Given the description of an element on the screen output the (x, y) to click on. 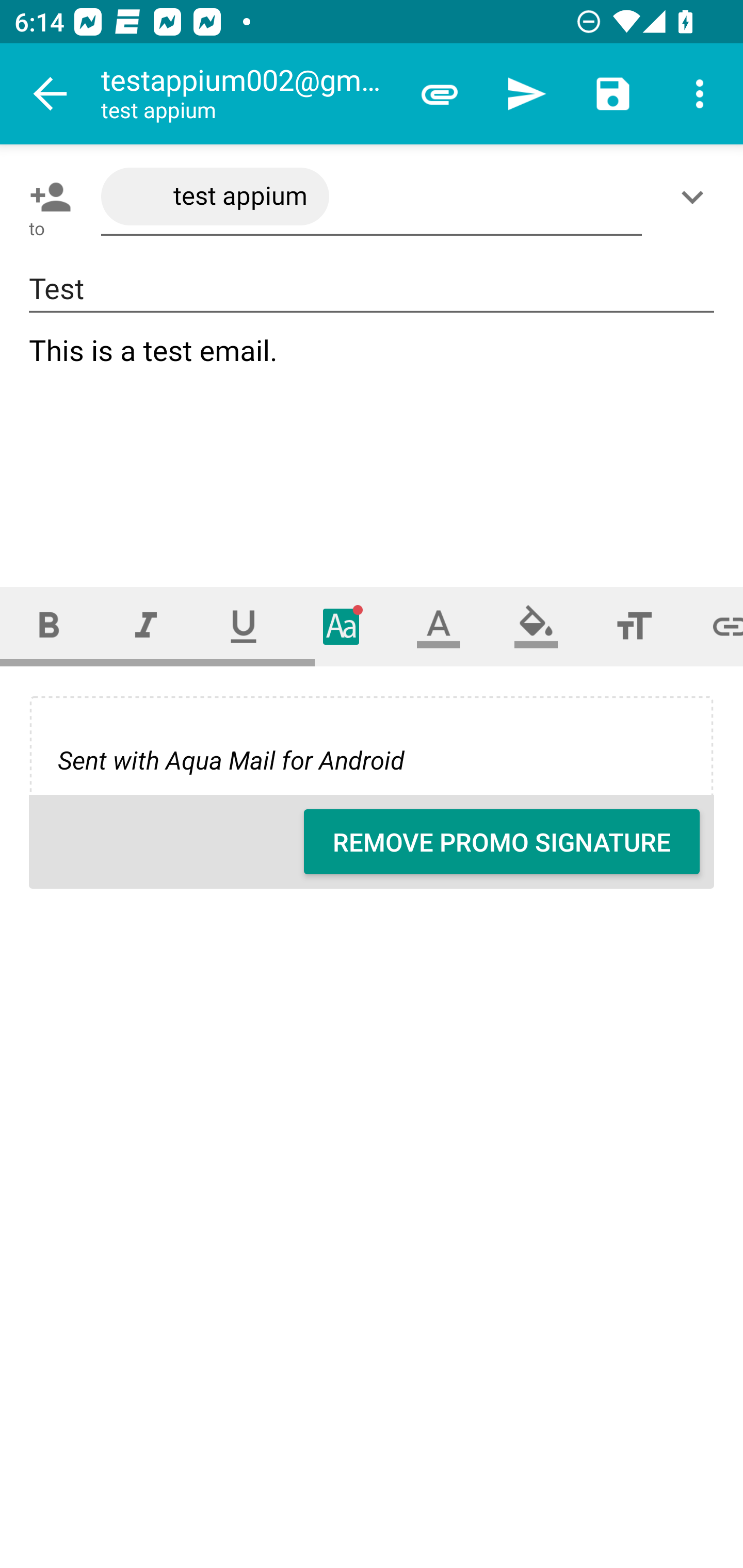
Navigate up (50, 93)
testappium002@gmail.com test appium (248, 93)
Attach (439, 93)
Send (525, 93)
Save (612, 93)
More options (699, 93)
test appium <testappium002@gmail.com>,  (371, 197)
Pick contact: To (46, 196)
Show/Add CC/BCC (696, 196)
Test (371, 288)
This is a test email. (372, 442)
Bold (48, 626)
Italic (145, 626)
Underline (243, 626)
Typeface (font) (341, 626)
Text color (438, 626)
Fill color (536, 626)
Font size (633, 626)
REMOVE PROMO SIGNATURE (501, 841)
